Given the description of an element on the screen output the (x, y) to click on. 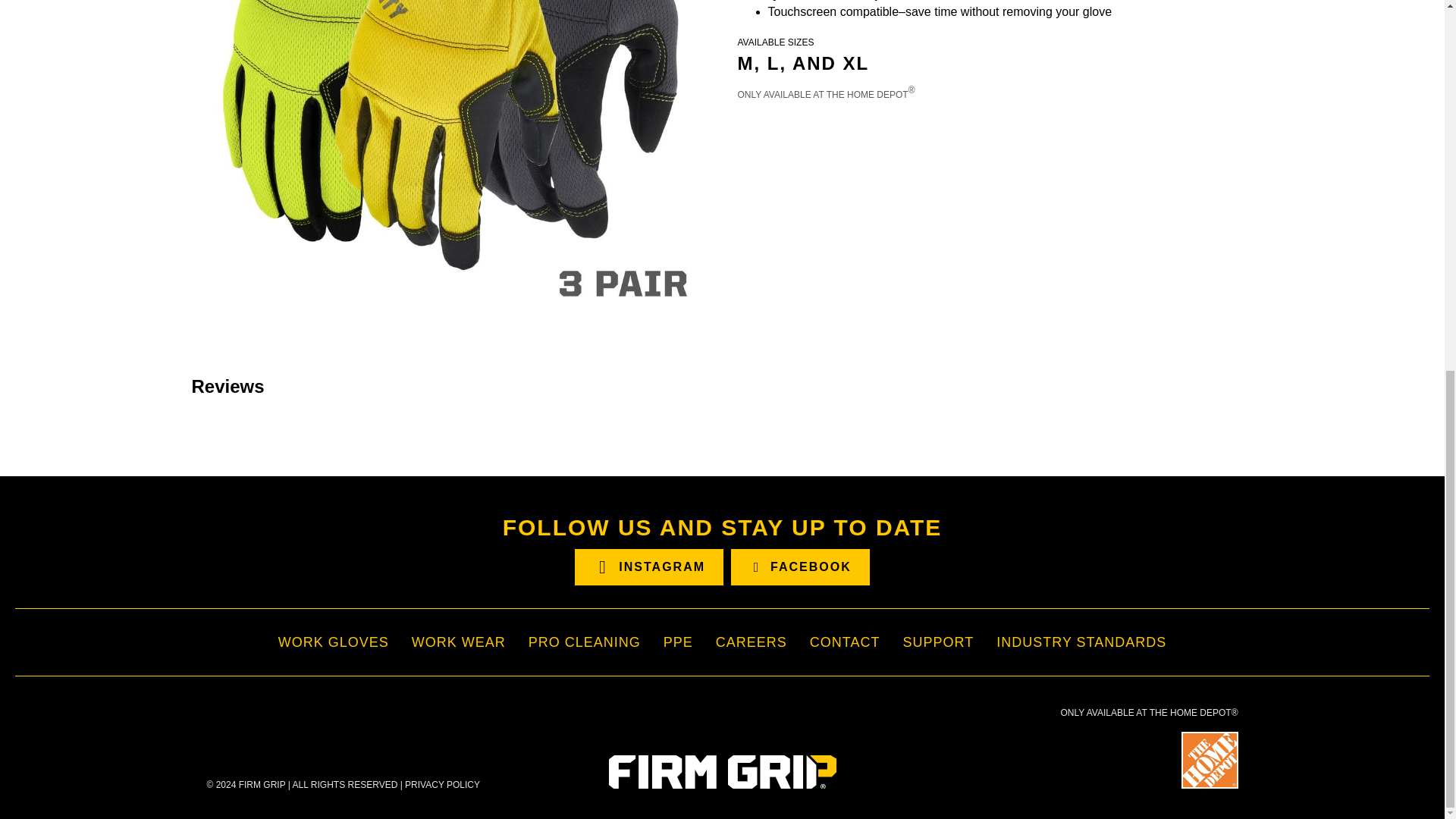
WORK WEAR (458, 642)
SUPPORT (938, 642)
FACEBOOK (799, 566)
INSTAGRAM (649, 566)
PRIVACY POLICY (442, 784)
firmgrip-horz-white (721, 771)
PRO CLEANING (584, 642)
WORK GLOVES (333, 642)
CONTACT (845, 642)
INDUSTRY STANDARDS (1080, 642)
PPE (678, 642)
CAREERS (750, 642)
